Given the description of an element on the screen output the (x, y) to click on. 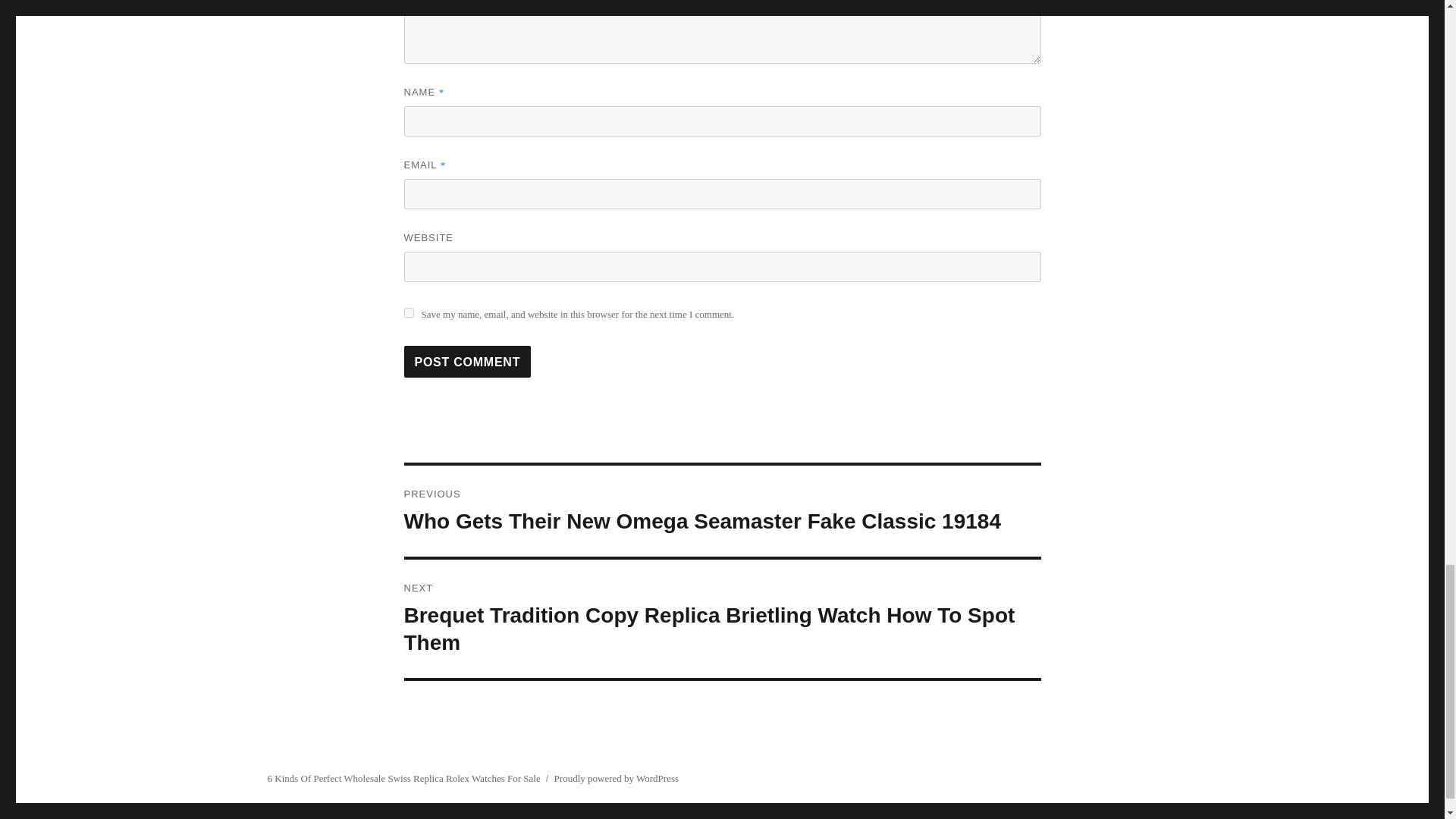
Post Comment (467, 361)
yes (408, 312)
Post Comment (467, 361)
Proudly powered by WordPress (616, 778)
